Given the description of an element on the screen output the (x, y) to click on. 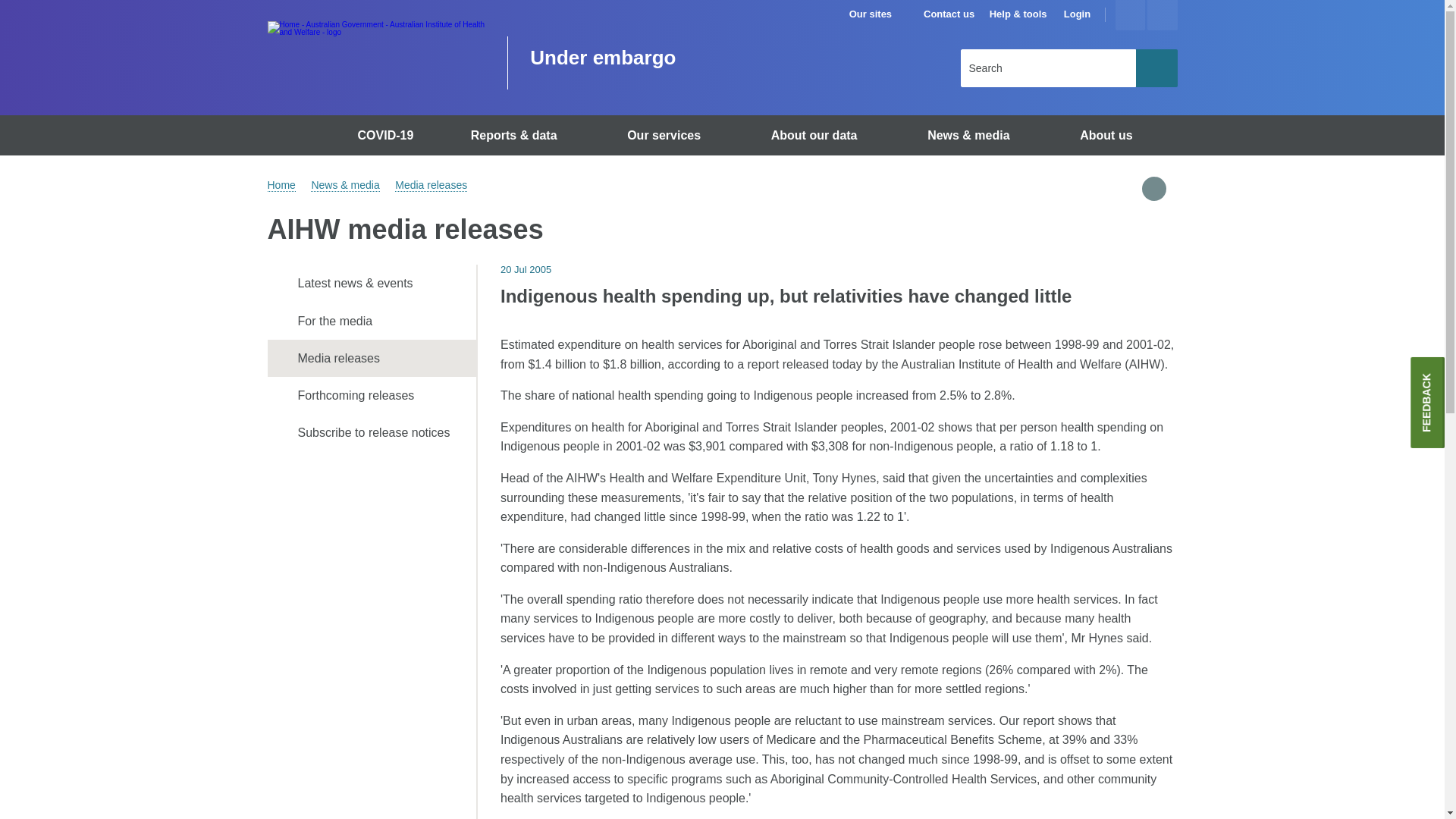
Australian Institute of Health and Welfare (375, 53)
Login (1077, 14)
Contact us (948, 14)
Increase text size (1130, 15)
COVID-19 (388, 135)
Decrease text size (1162, 15)
Search (1156, 67)
Our sites (877, 14)
